Given the description of an element on the screen output the (x, y) to click on. 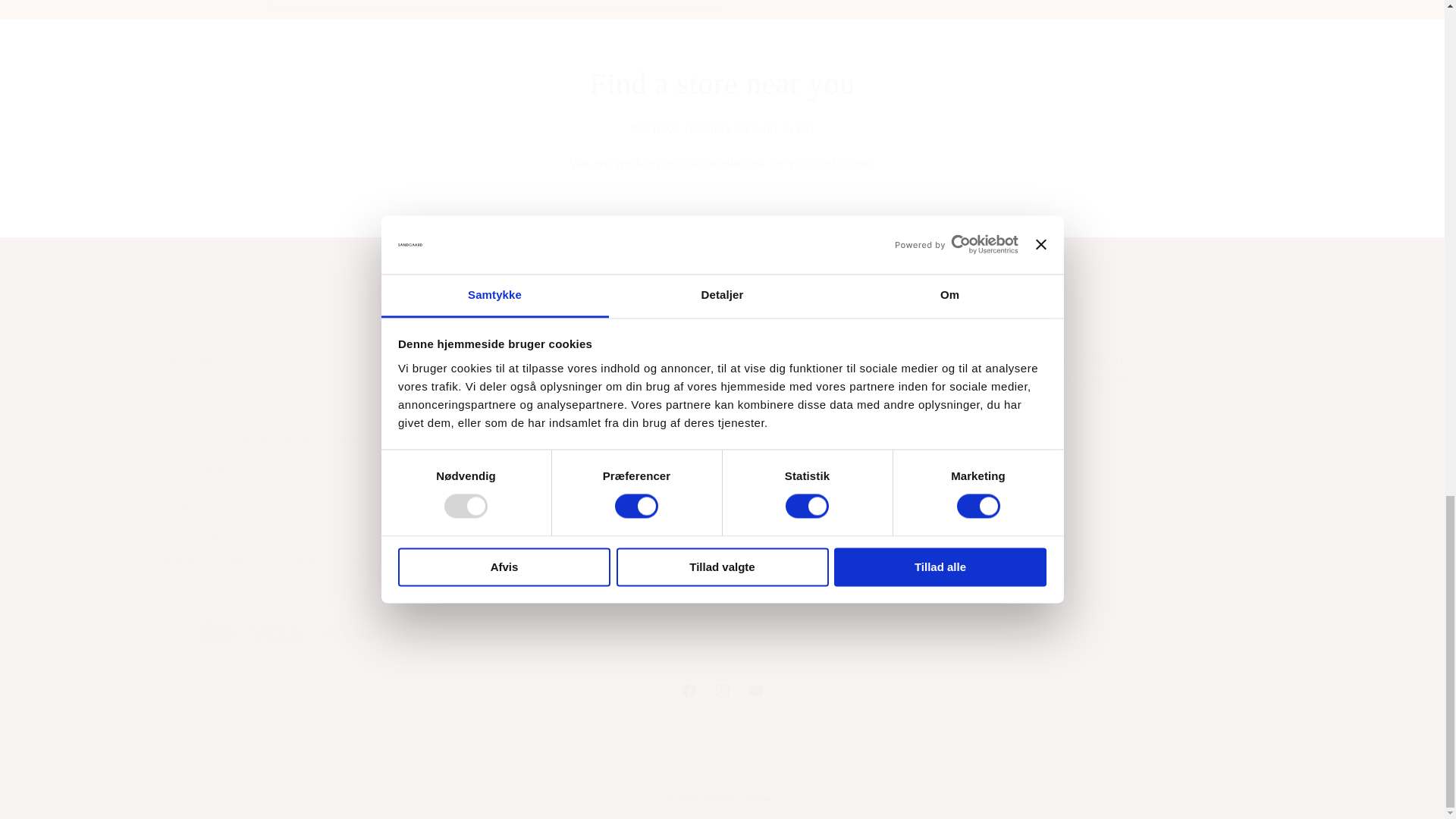
Contact (864, 432)
Find a store near you (1093, 381)
